Given the description of an element on the screen output the (x, y) to click on. 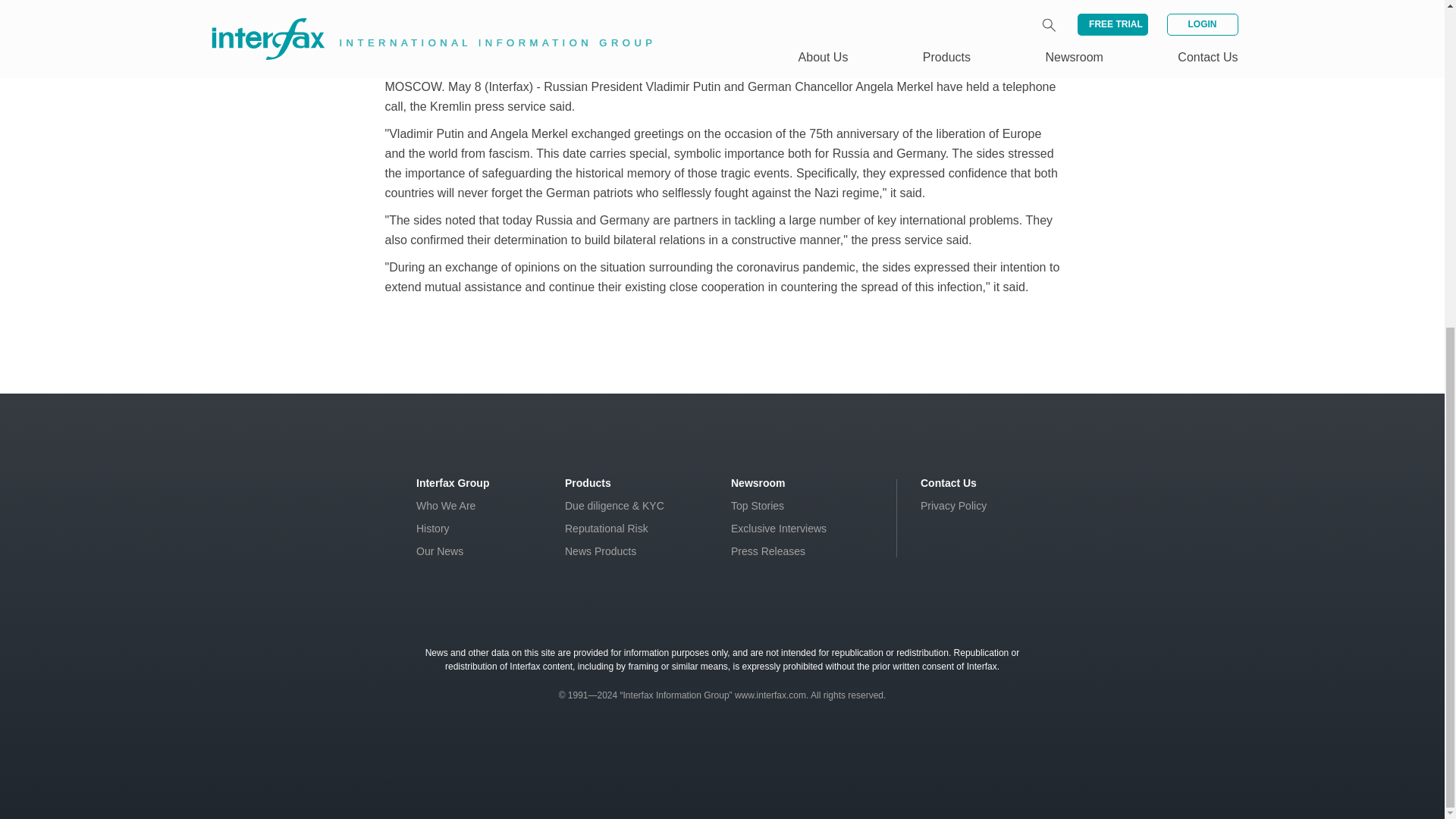
Who We Are (446, 505)
History (432, 528)
Our News (439, 551)
Interfax Group (452, 482)
